Given the description of an element on the screen output the (x, y) to click on. 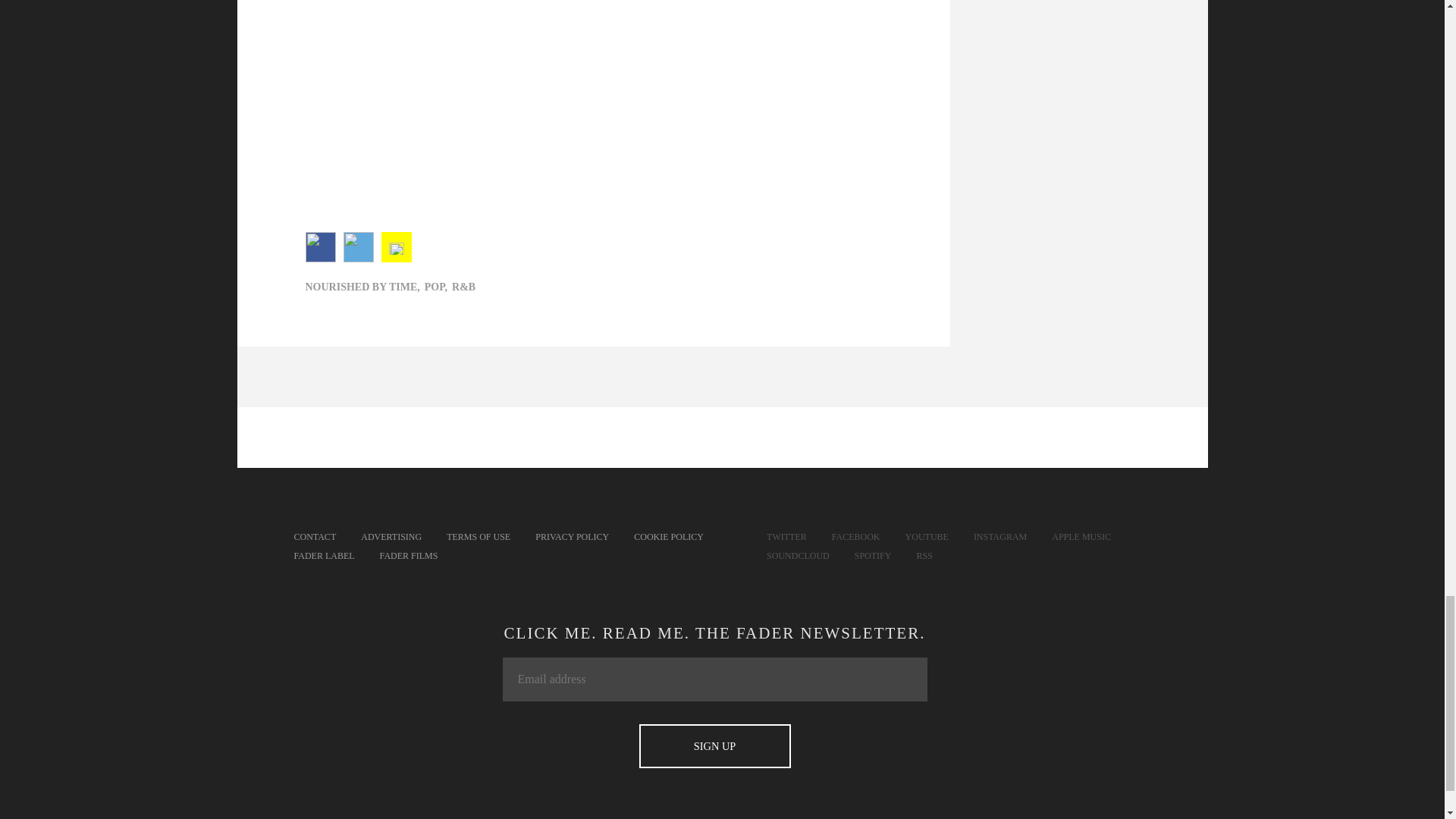
Sign Up (714, 745)
